Given the description of an element on the screen output the (x, y) to click on. 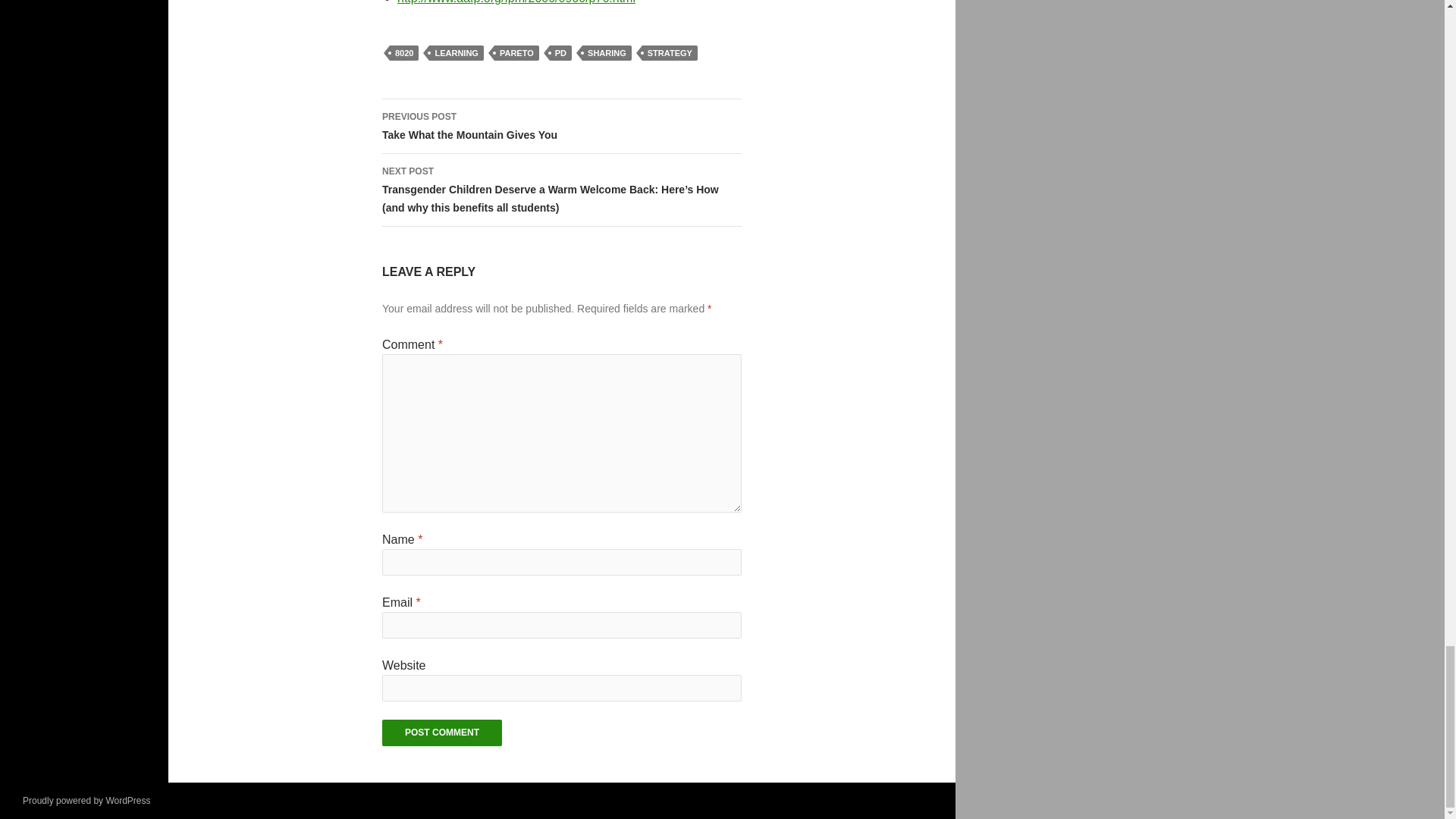
PD (561, 52)
8020 (404, 52)
PARETO (516, 52)
Post Comment (441, 732)
STRATEGY (669, 52)
Post Comment (441, 732)
LEARNING (561, 126)
SHARING (456, 52)
